Given the description of an element on the screen output the (x, y) to click on. 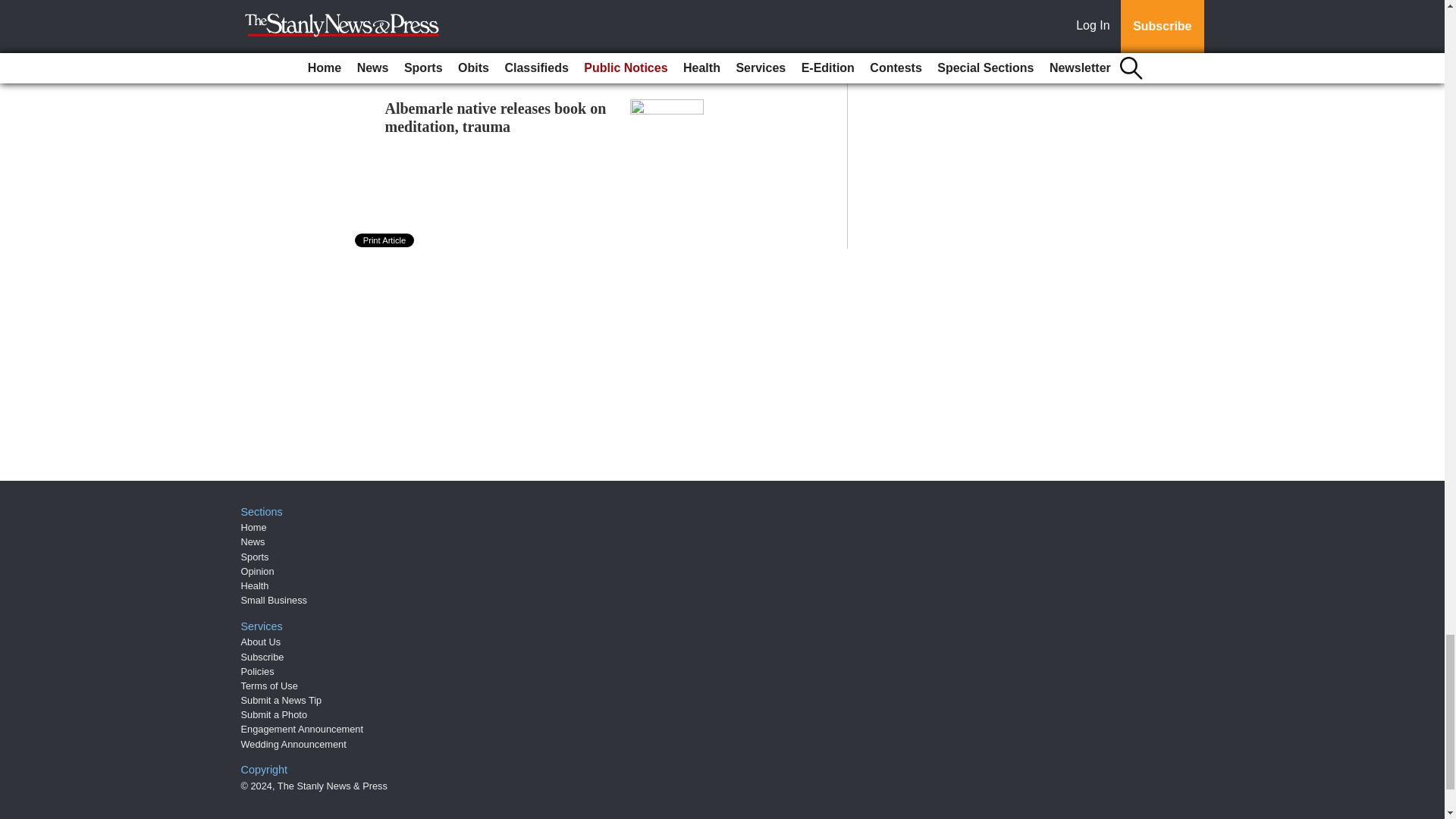
Print Article (384, 240)
Albemarle native releases book on meditation, trauma (496, 117)
Albemarle native releases book on meditation, trauma (496, 117)
